Given the description of an element on the screen output the (x, y) to click on. 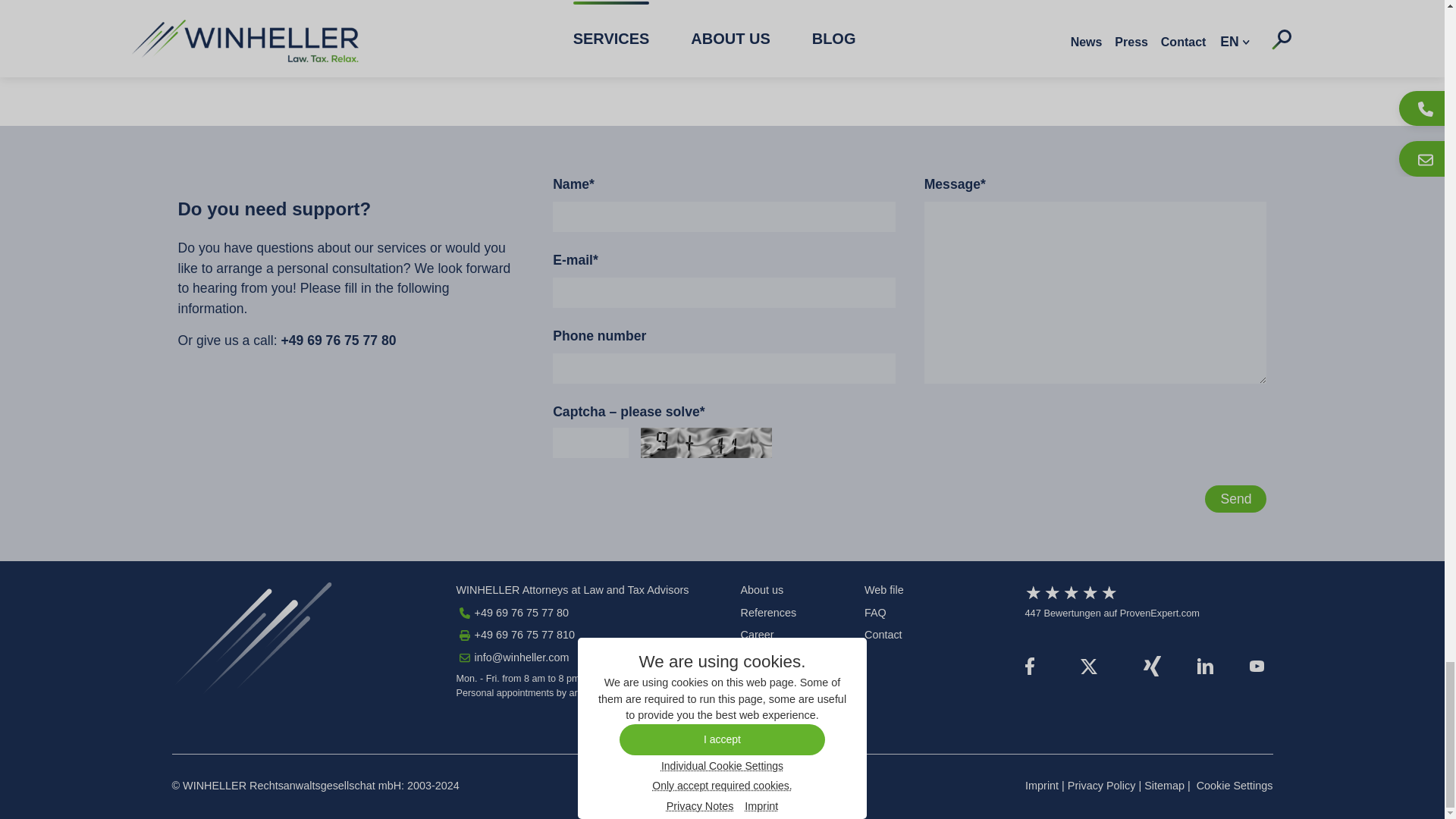
Send (1235, 498)
